Given the description of an element on the screen output the (x, y) to click on. 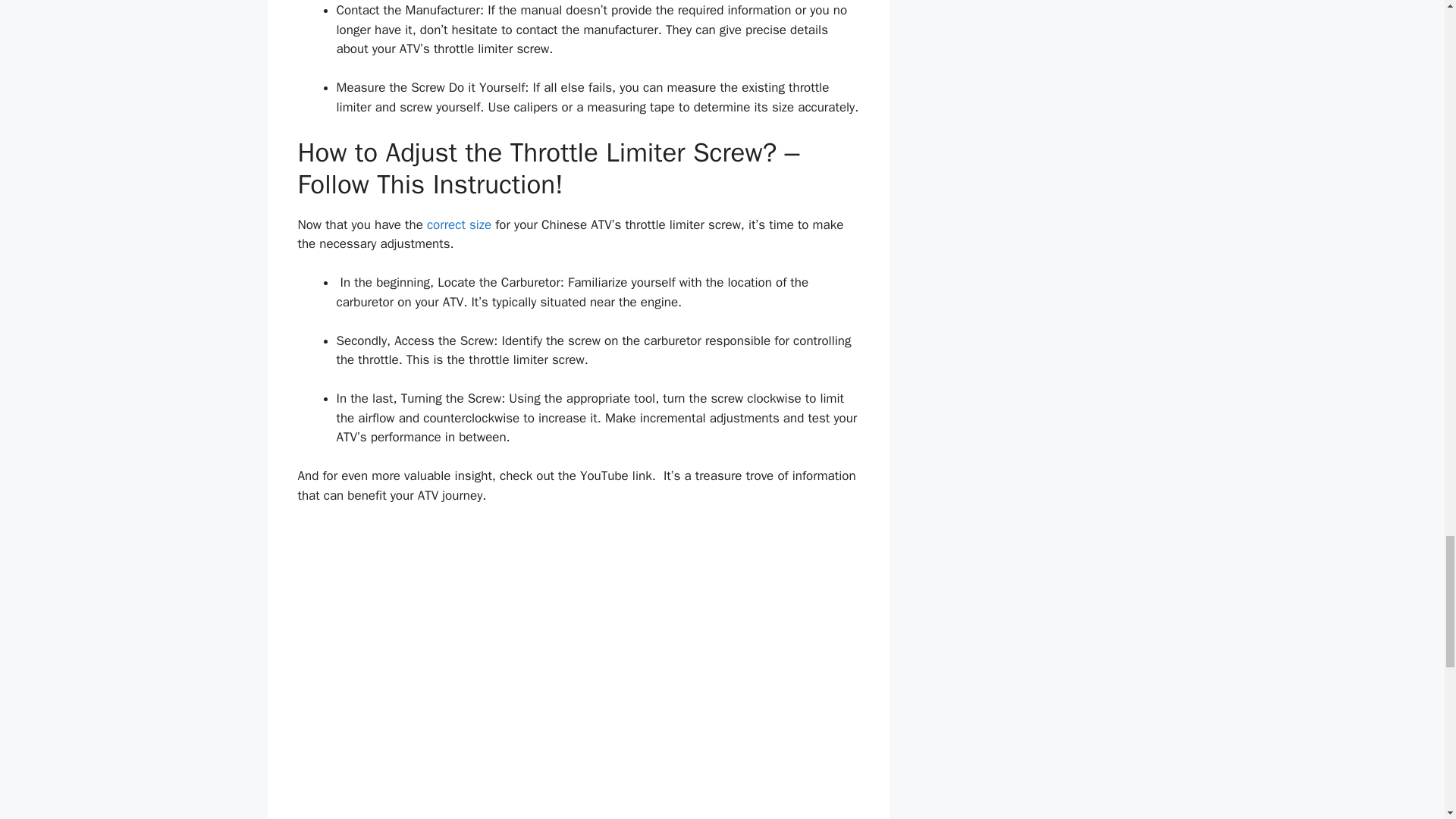
correct size (459, 224)
